Given the description of an element on the screen output the (x, y) to click on. 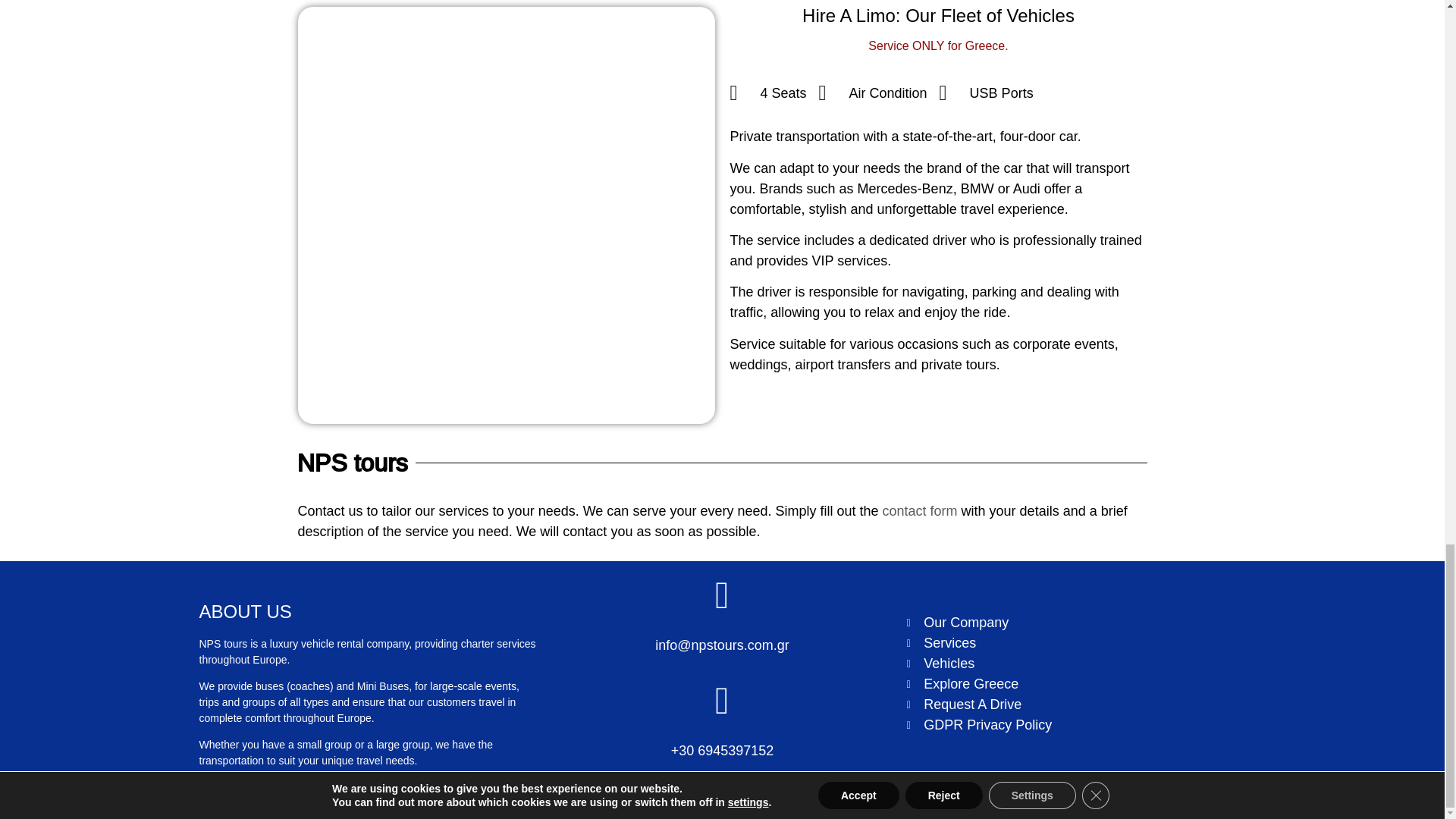
Vehicles (1076, 663)
CREATED BY WEBVY.EU WITH (183, 803)
contact form (920, 510)
Explore Greece (1076, 684)
Services (1076, 643)
Request A Drive (1076, 704)
GDPR Privacy Policy (1076, 724)
Our Company (1076, 622)
